Given the description of an element on the screen output the (x, y) to click on. 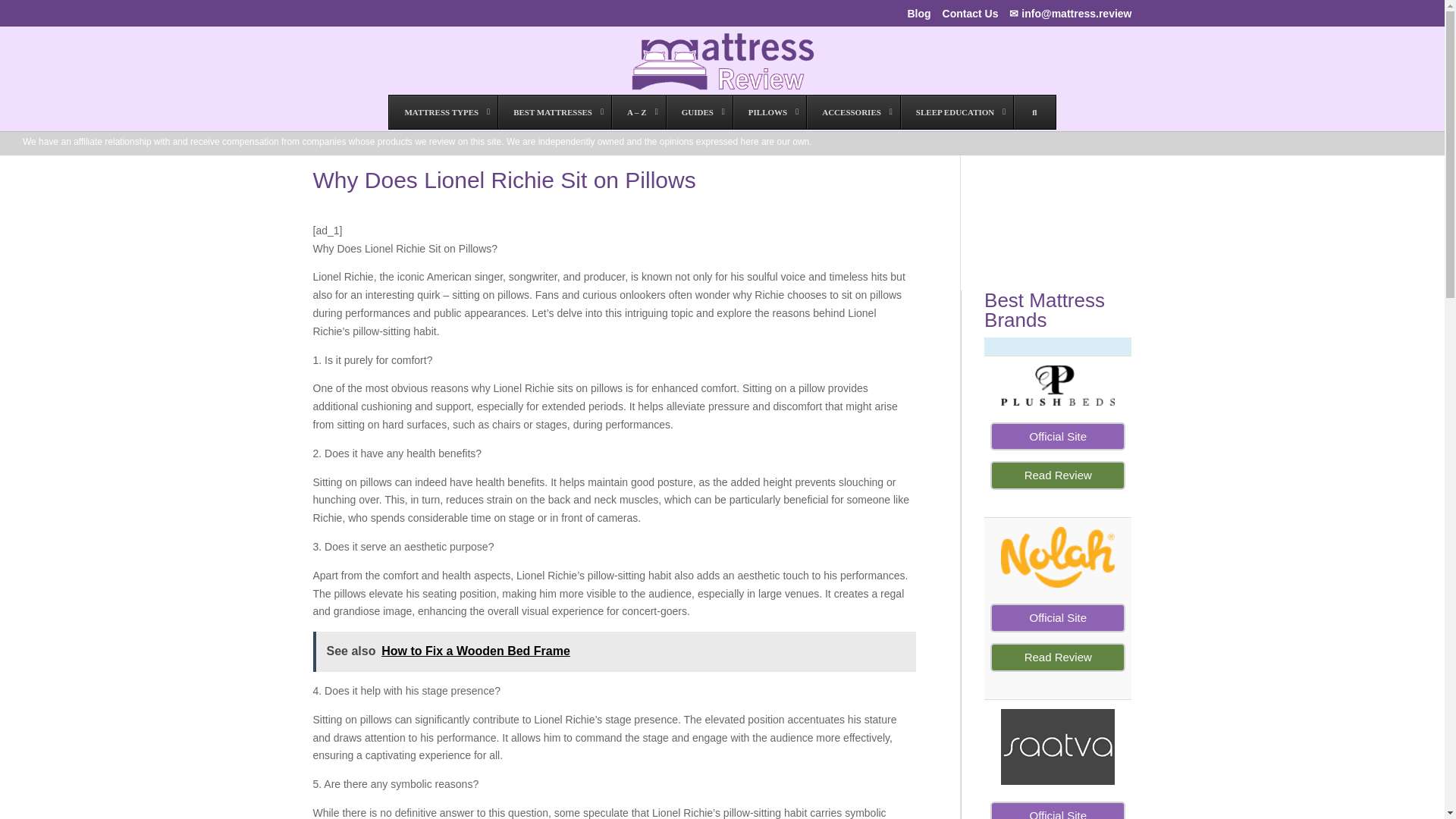
Contact Us (970, 16)
MATTRESS TYPES (442, 111)
Blog (918, 16)
